Given the description of an element on the screen output the (x, y) to click on. 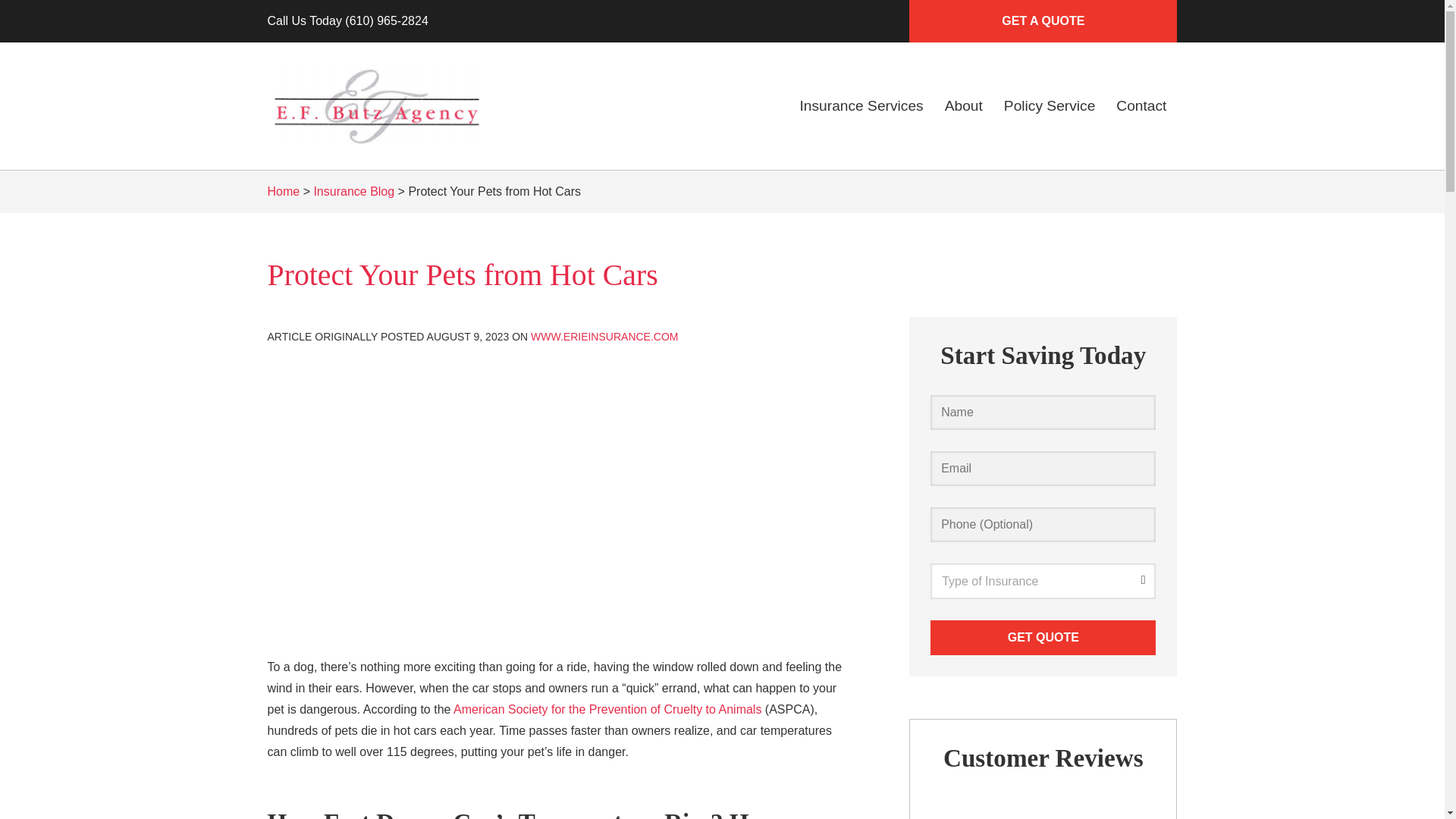
GET A QUOTE (1042, 21)
Get Quote (1043, 637)
About (963, 105)
E.F. Butz Insurance Agency, Emmaus (375, 105)
Policy Service (1049, 105)
Insurance Services (861, 105)
